Given the description of an element on the screen output the (x, y) to click on. 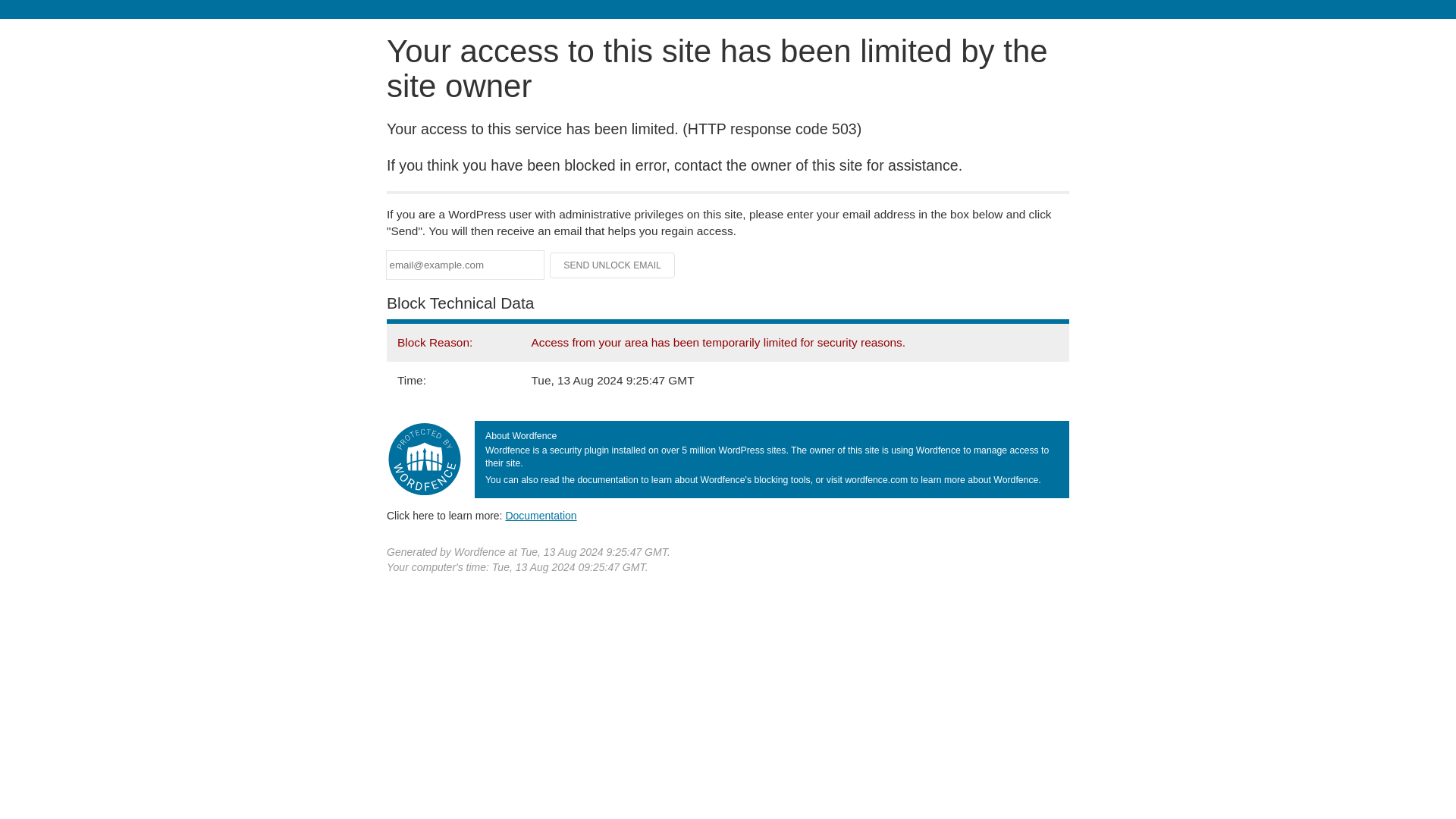
Send Unlock Email (612, 265)
Documentation (540, 515)
Send Unlock Email (612, 265)
